Given the description of an element on the screen output the (x, y) to click on. 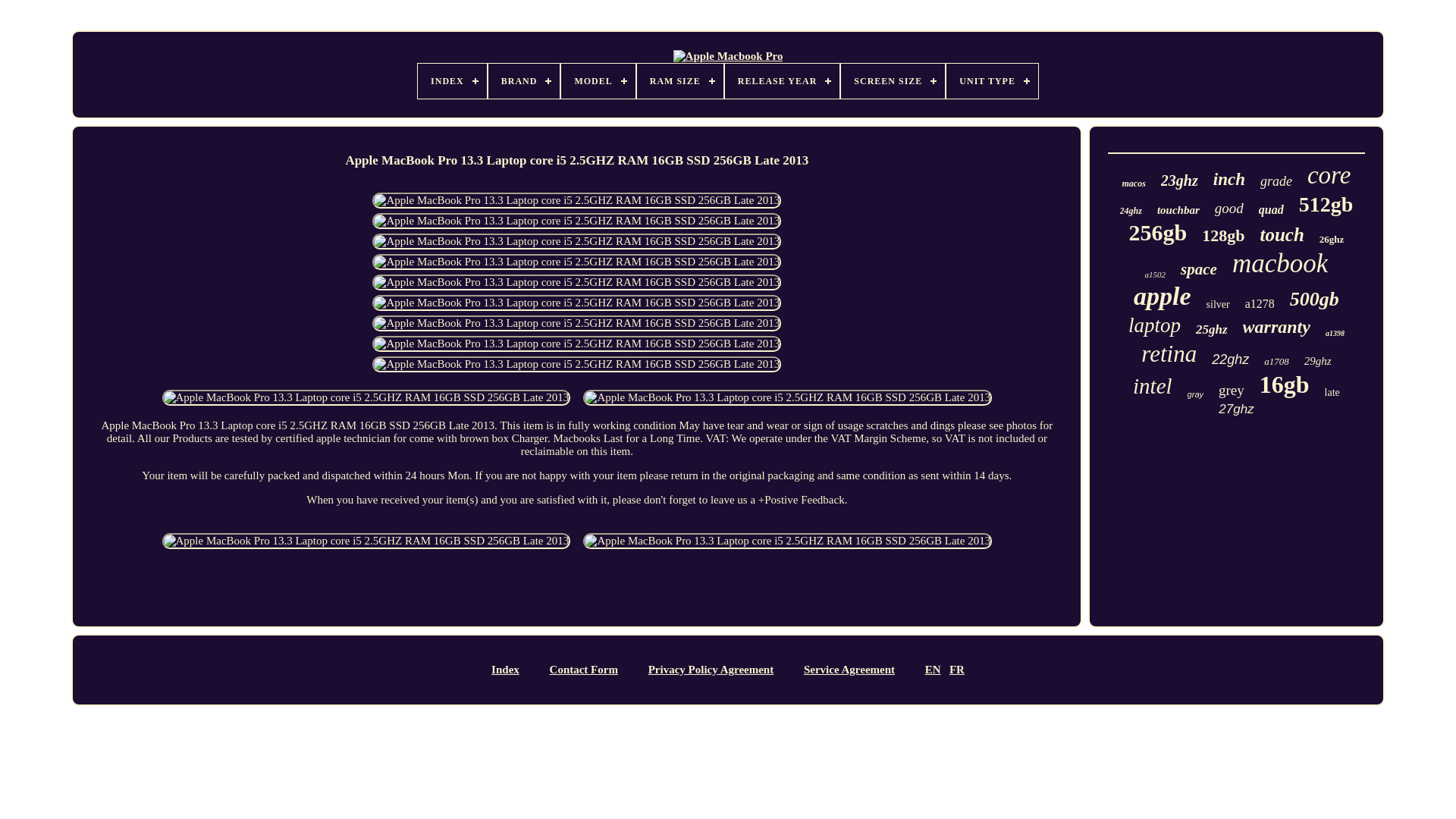
MODEL (597, 80)
INDEX (451, 80)
BRAND (523, 80)
